Given the description of an element on the screen output the (x, y) to click on. 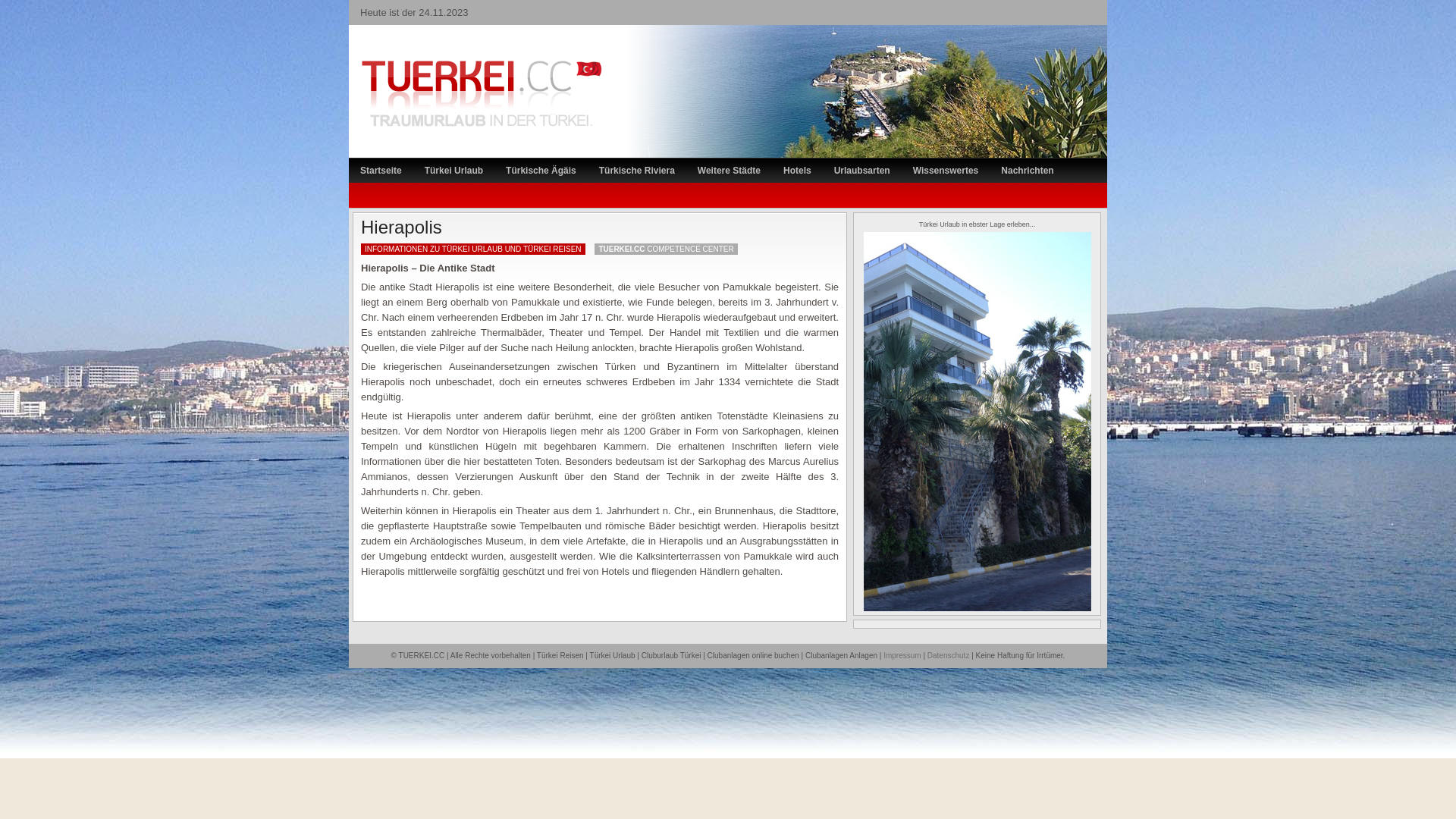
Nachrichten Element type: text (1026, 169)
Impressum Element type: text (901, 655)
Wissenswertes Element type: text (945, 169)
Hotels Element type: text (796, 169)
Datenschutz Element type: text (948, 655)
Startseite Element type: text (380, 169)
Urlaubsarten Element type: text (861, 169)
Hierapolis Element type: text (401, 226)
